Given the description of an element on the screen output the (x, y) to click on. 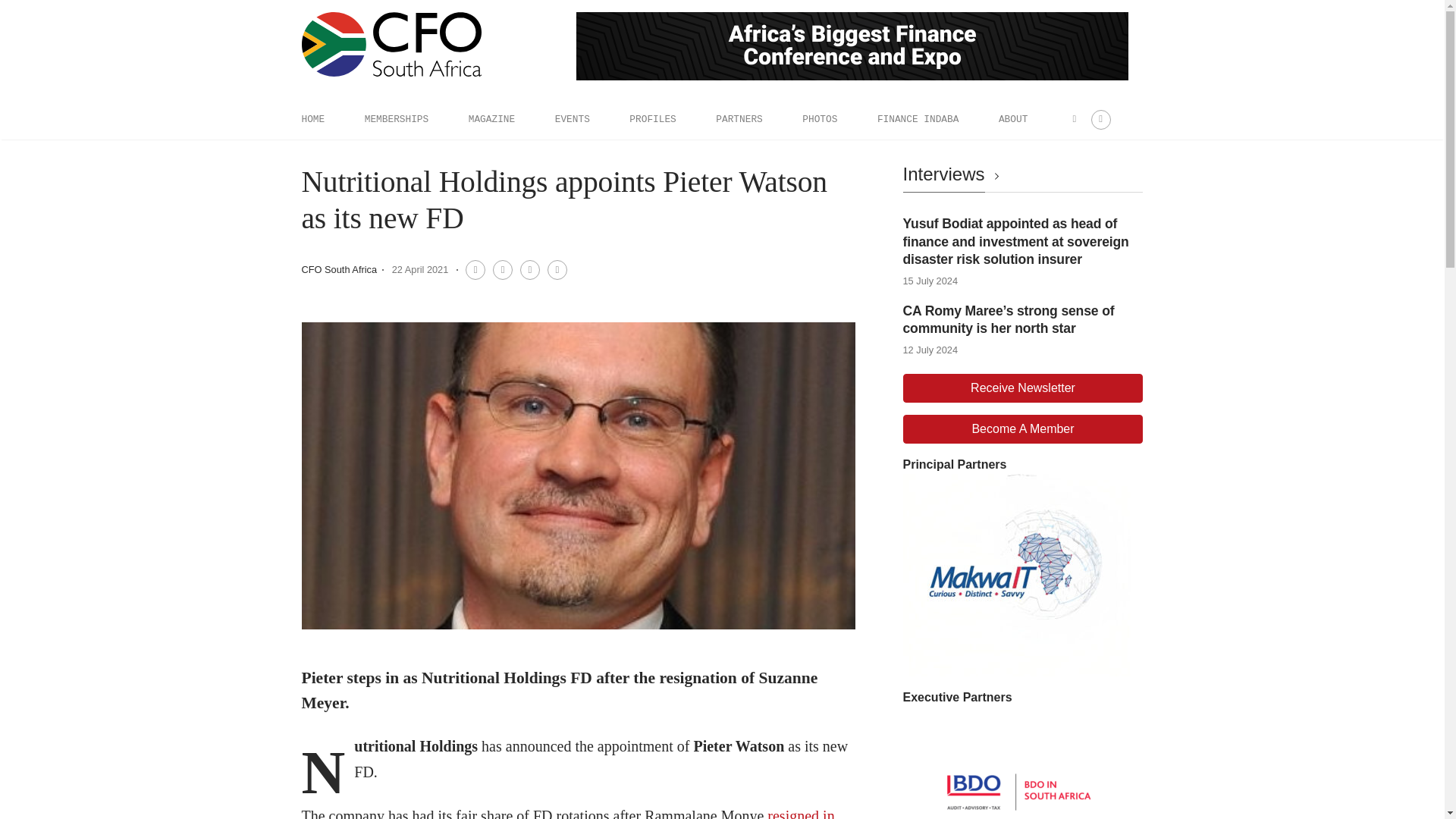
ABOUT (1012, 119)
PHOTOS (819, 119)
PROFILES (651, 119)
HOME (312, 119)
resigned in July 2020 (567, 813)
CFO South Africa (339, 269)
EVENTS (571, 119)
PARTNERS (738, 119)
FINANCE INDABA (918, 119)
Become A Member (1022, 428)
